Given the description of an element on the screen output the (x, y) to click on. 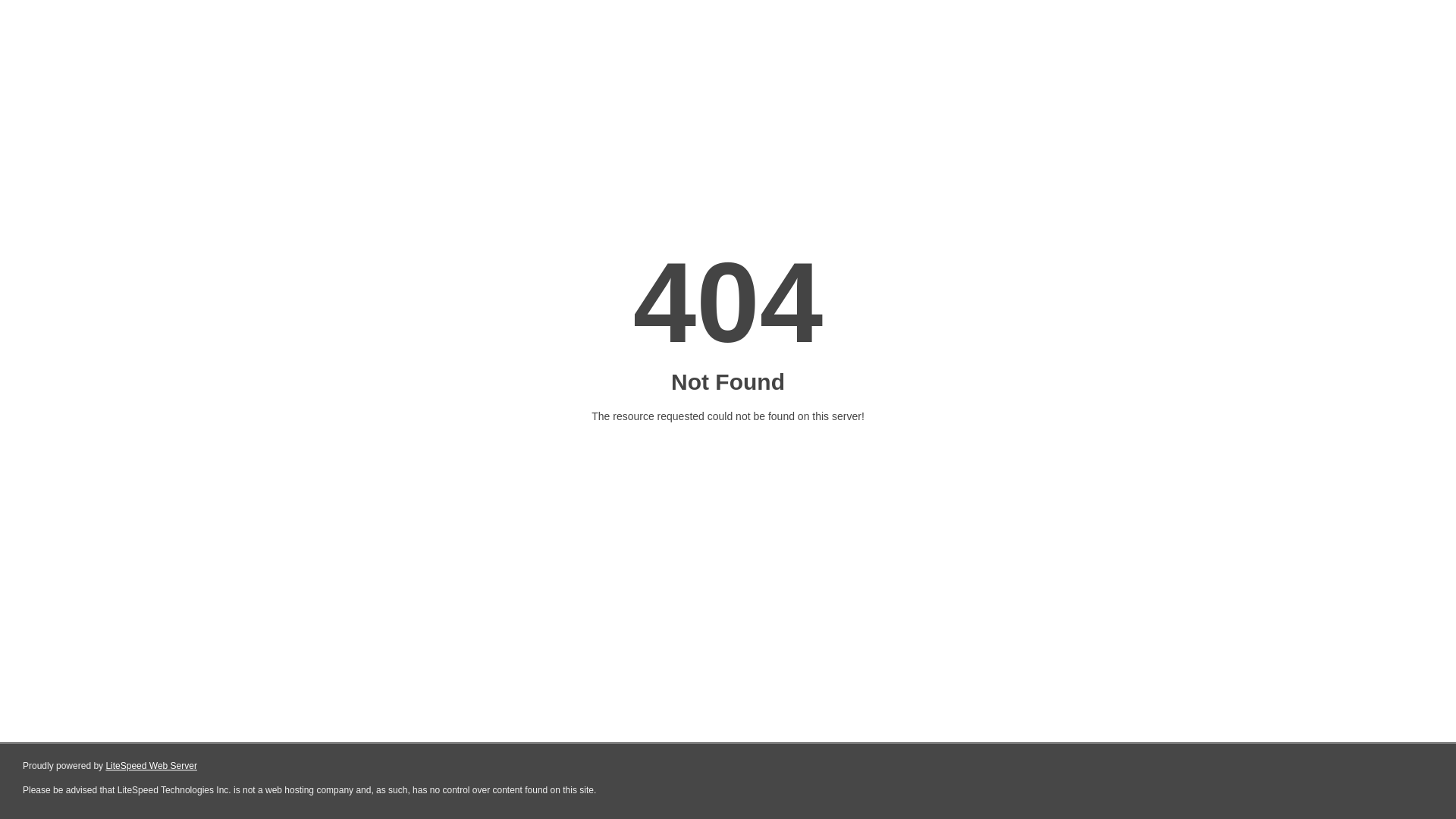
LiteSpeed Web Server Element type: text (151, 765)
